Given the description of an element on the screen output the (x, y) to click on. 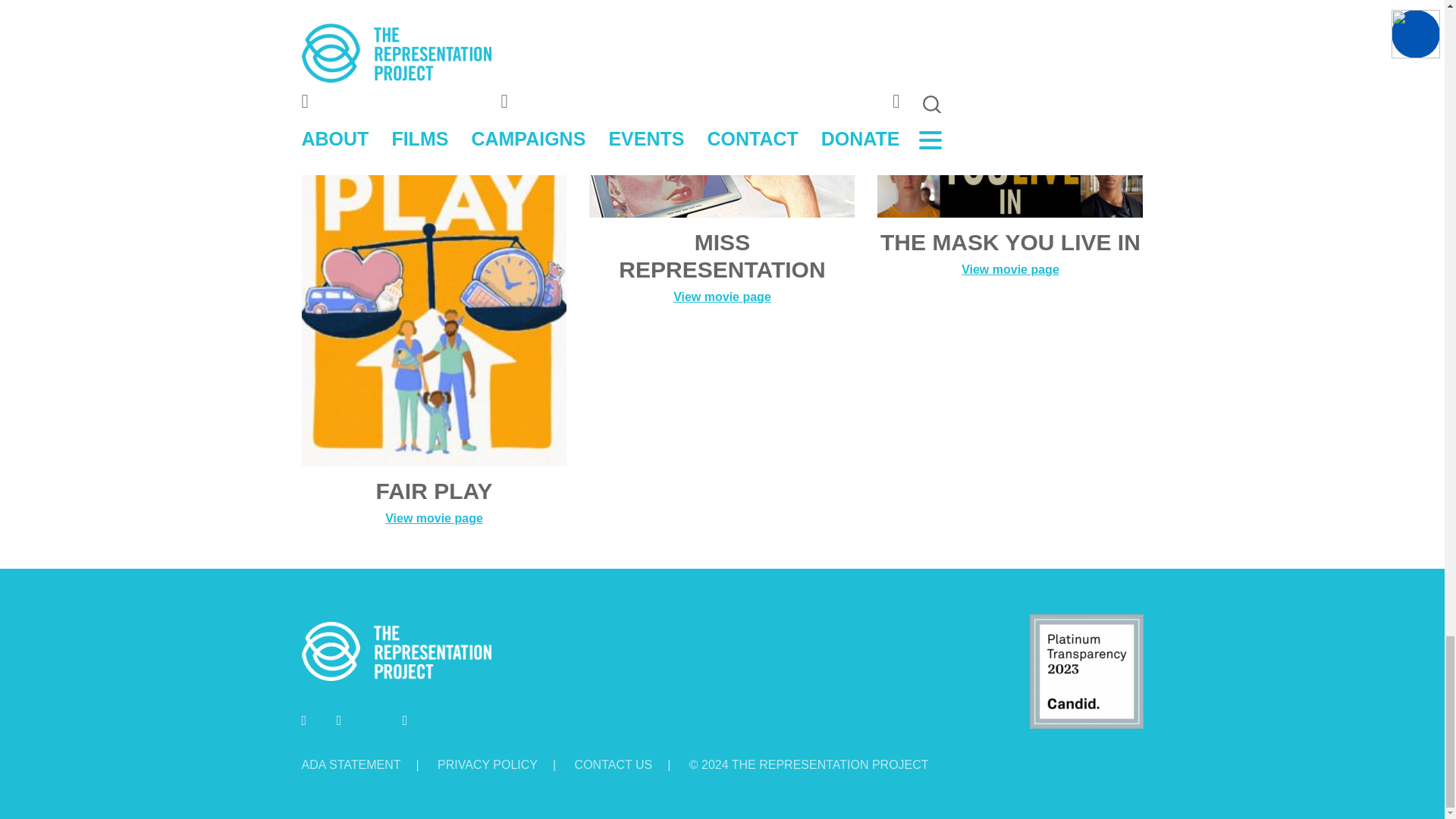
FAIR PLAY (434, 265)
MISS REPRESENTATION (721, 141)
THE MASK YOU LIVE IN (1009, 141)
